Given the description of an element on the screen output the (x, y) to click on. 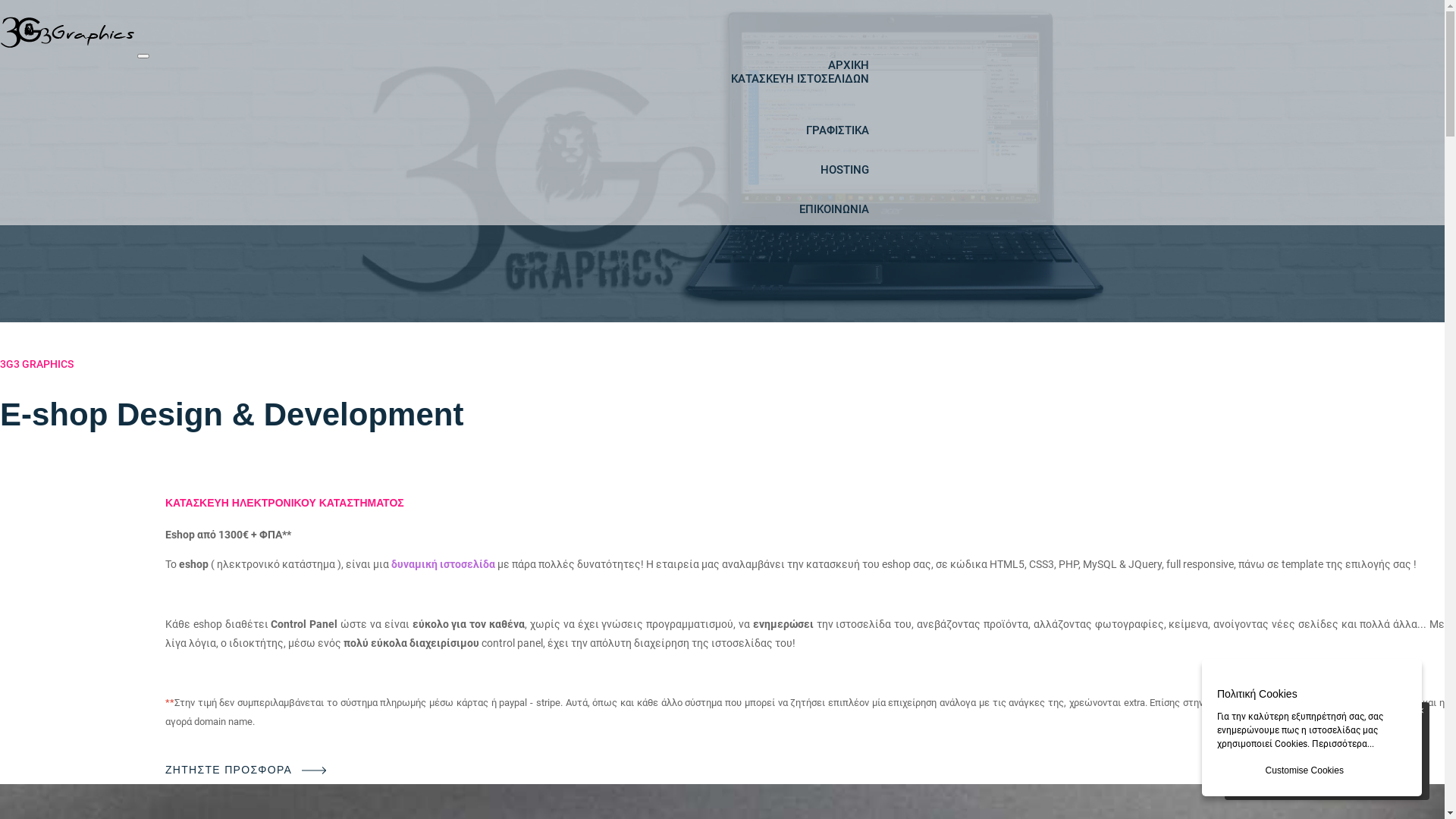
HOSTING Element type: text (844, 169)
Customise Cookies Element type: text (1304, 770)
6949456199 Element type: text (1335, 748)
